Given the description of an element on the screen output the (x, y) to click on. 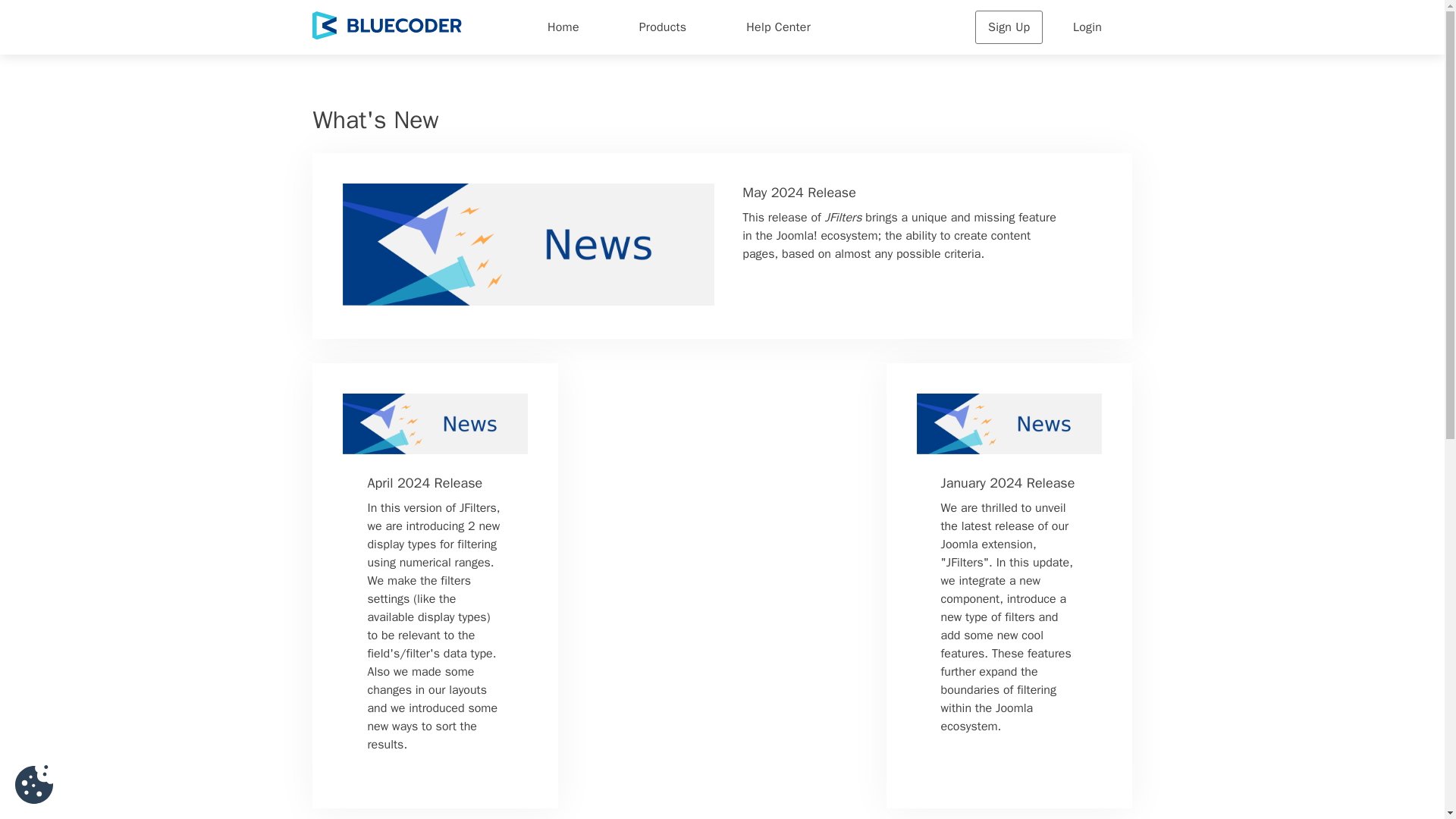
Home (563, 27)
Sign Up (1008, 27)
Products (662, 27)
Login (1087, 27)
Help Center (777, 27)
